Given the description of an element on the screen output the (x, y) to click on. 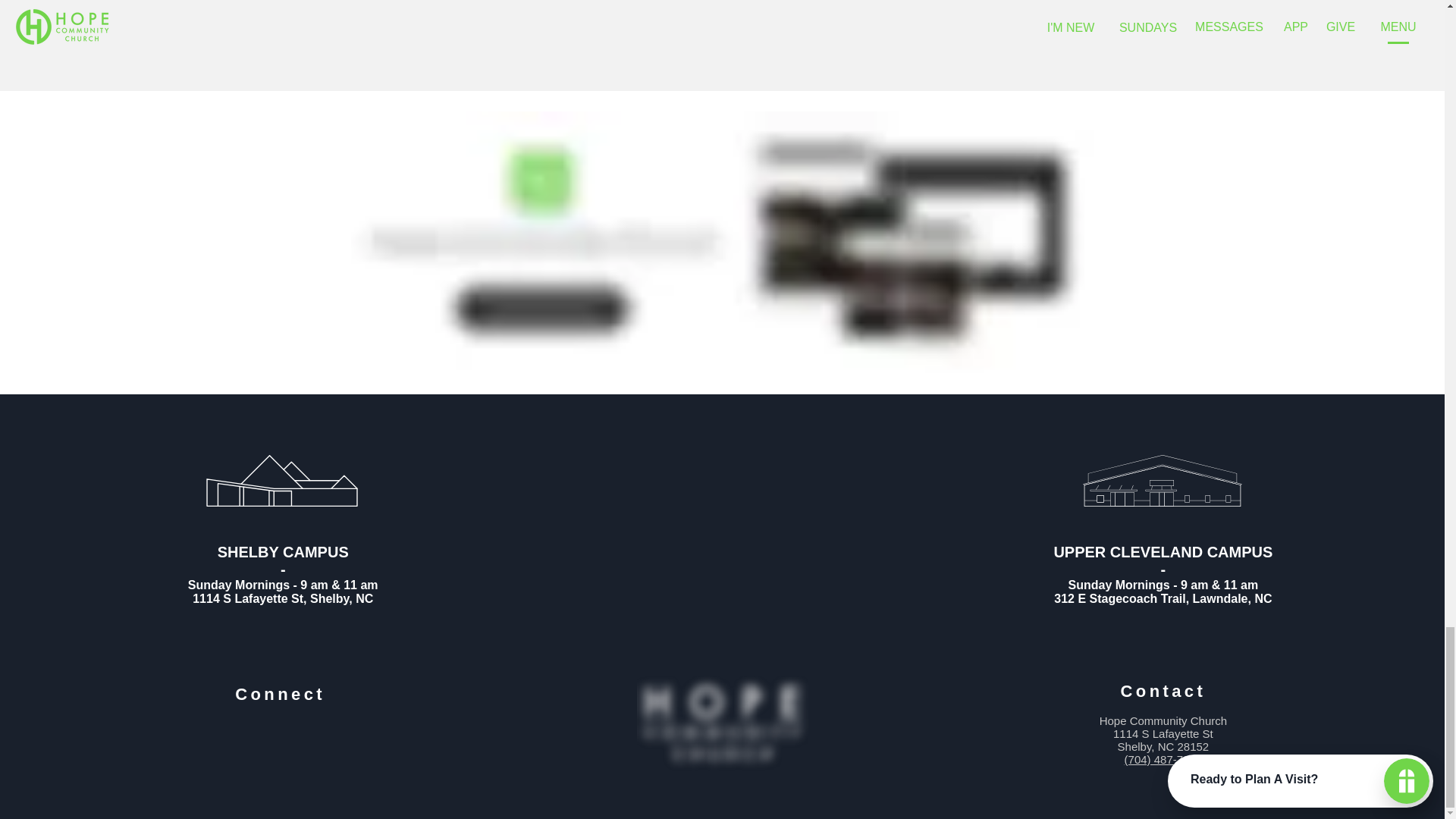
Contact (1164, 691)
SHELBY CAMPUS (282, 551)
UPPER CLEVELAND CAMPUS (1162, 551)
